Given the description of an element on the screen output the (x, y) to click on. 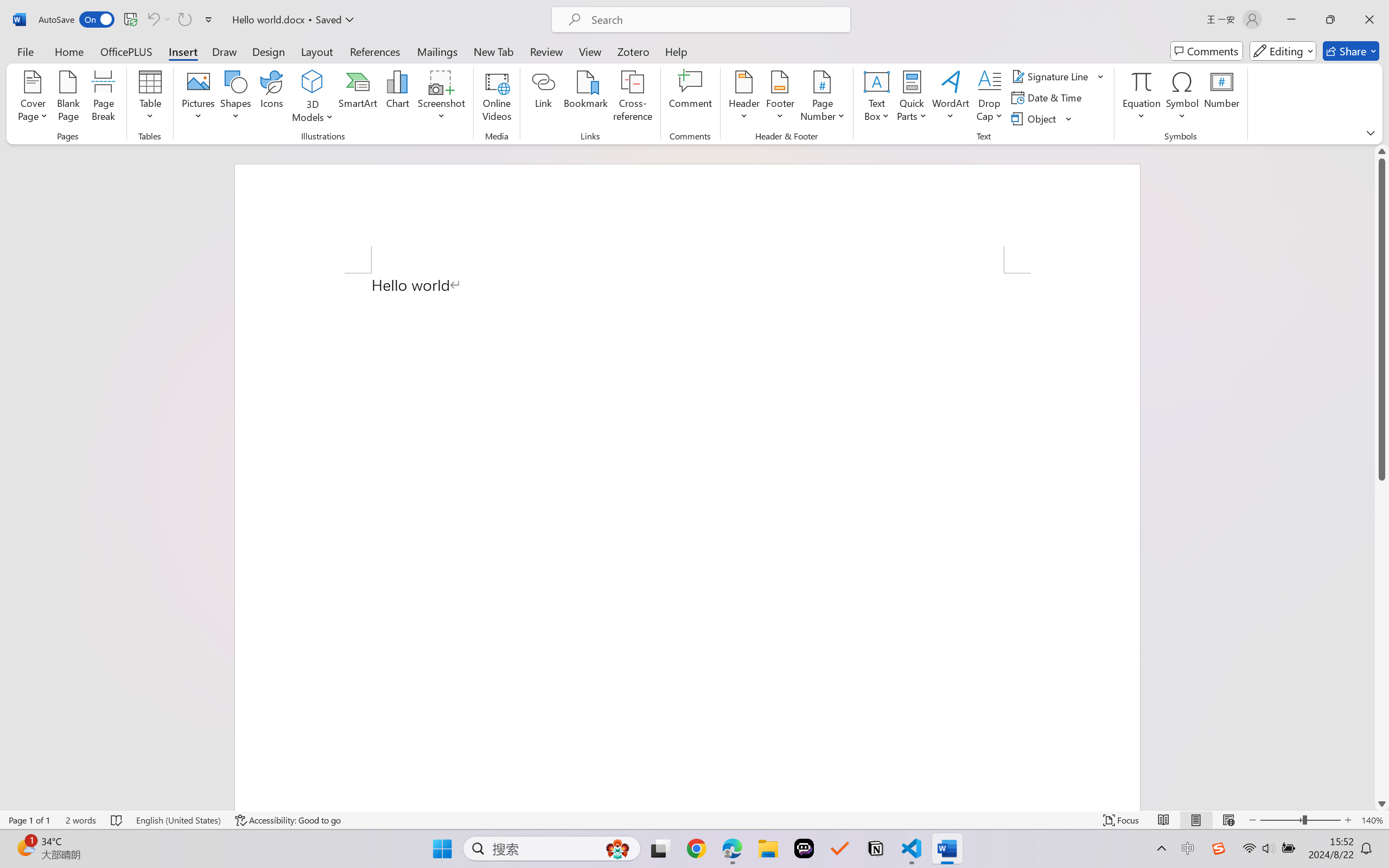
Subtitle TextBox (664, 574)
Next (619, 62)
New Comment (385, 62)
